Given the description of an element on the screen output the (x, y) to click on. 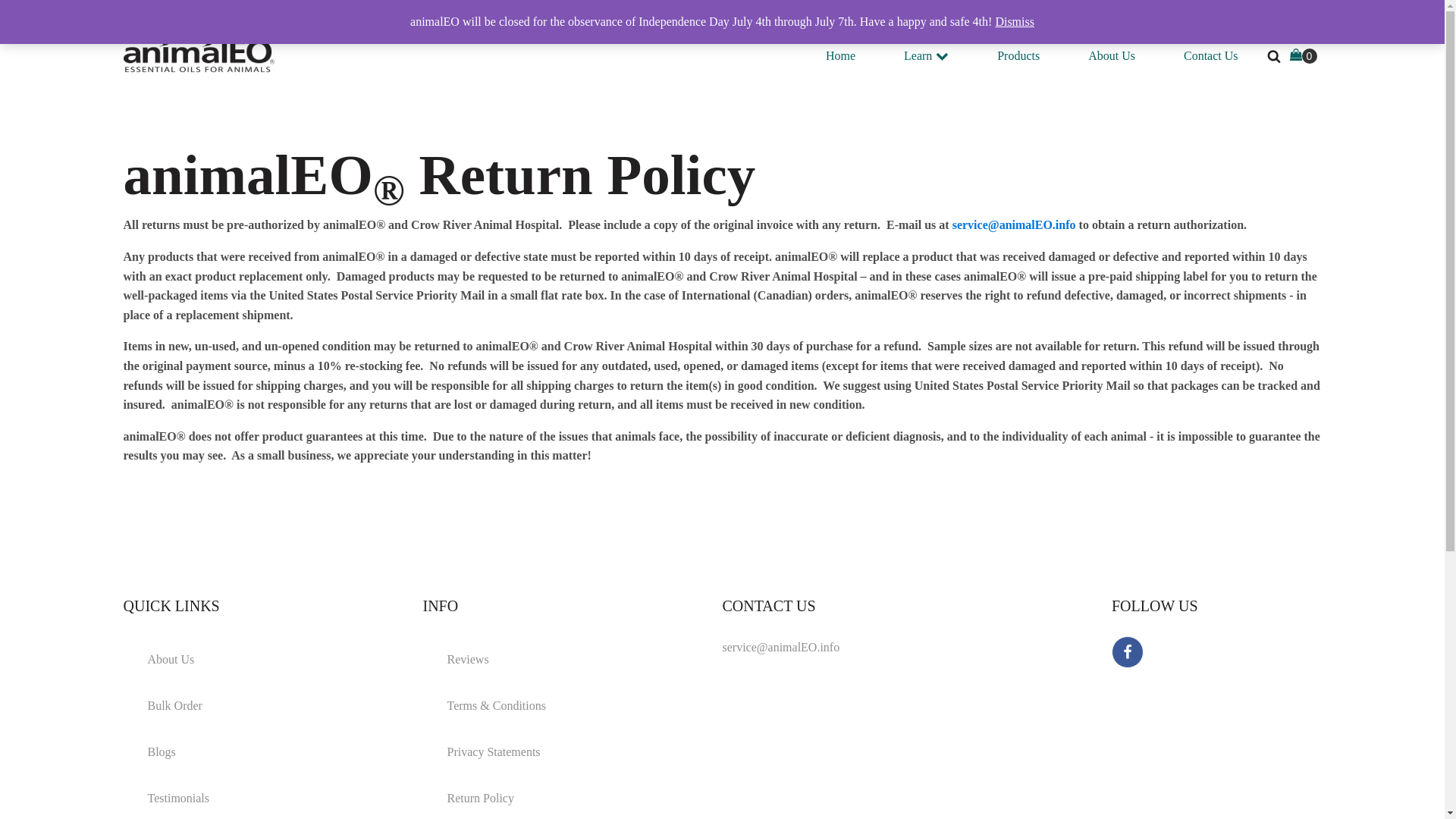
Login (1289, 16)
Home (840, 55)
About Us (1111, 55)
Wholesale (921, 17)
My account (1199, 17)
Contact Us (1211, 55)
Authorized Resellers (1059, 17)
Products (1018, 55)
Search (25, 9)
Quick Order (720, 17)
Learn (926, 55)
FAQ (823, 17)
